Given the description of an element on the screen output the (x, y) to click on. 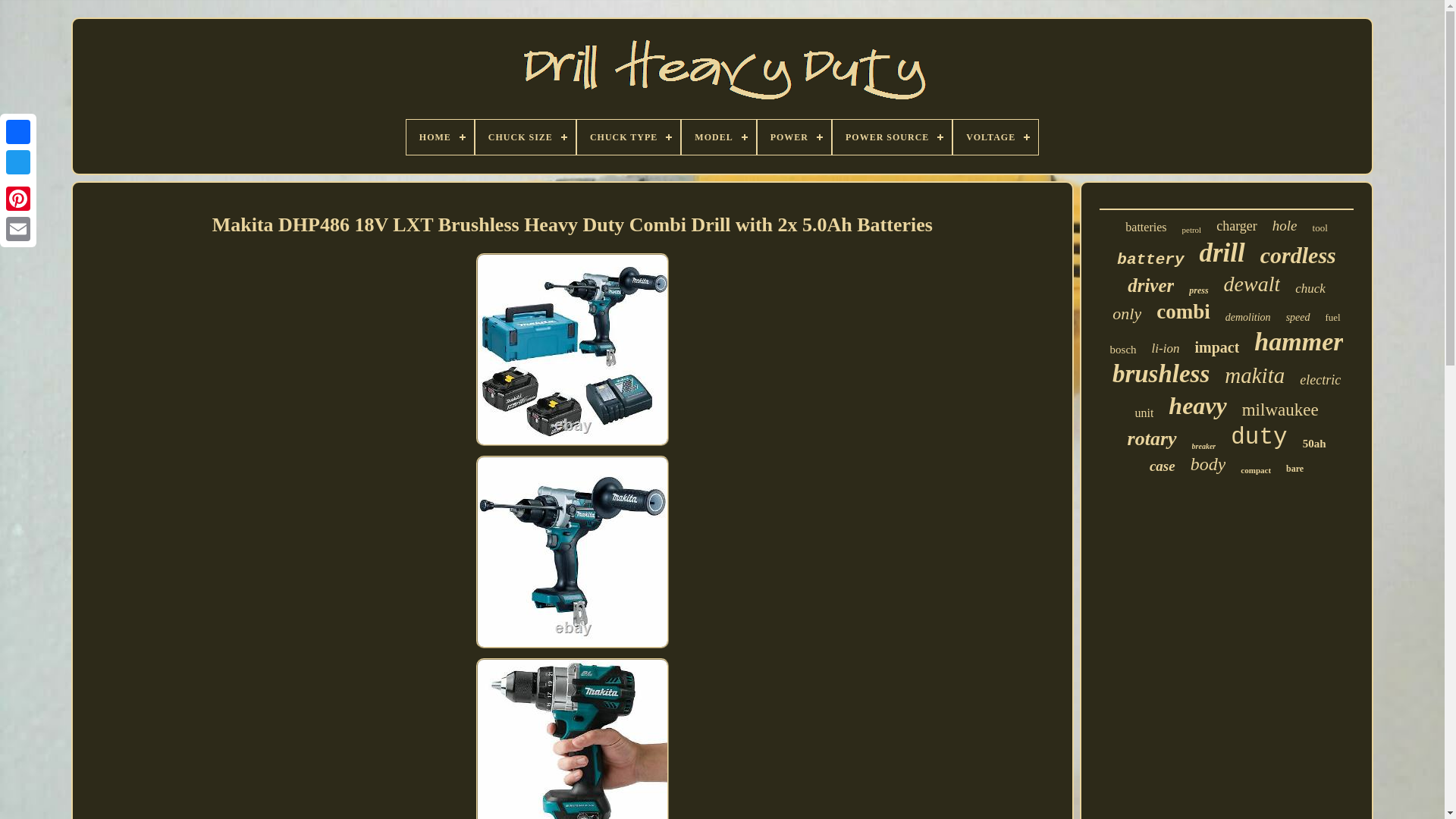
HOME (440, 136)
CHUCK SIZE (525, 136)
CHUCK TYPE (627, 136)
